Given the description of an element on the screen output the (x, y) to click on. 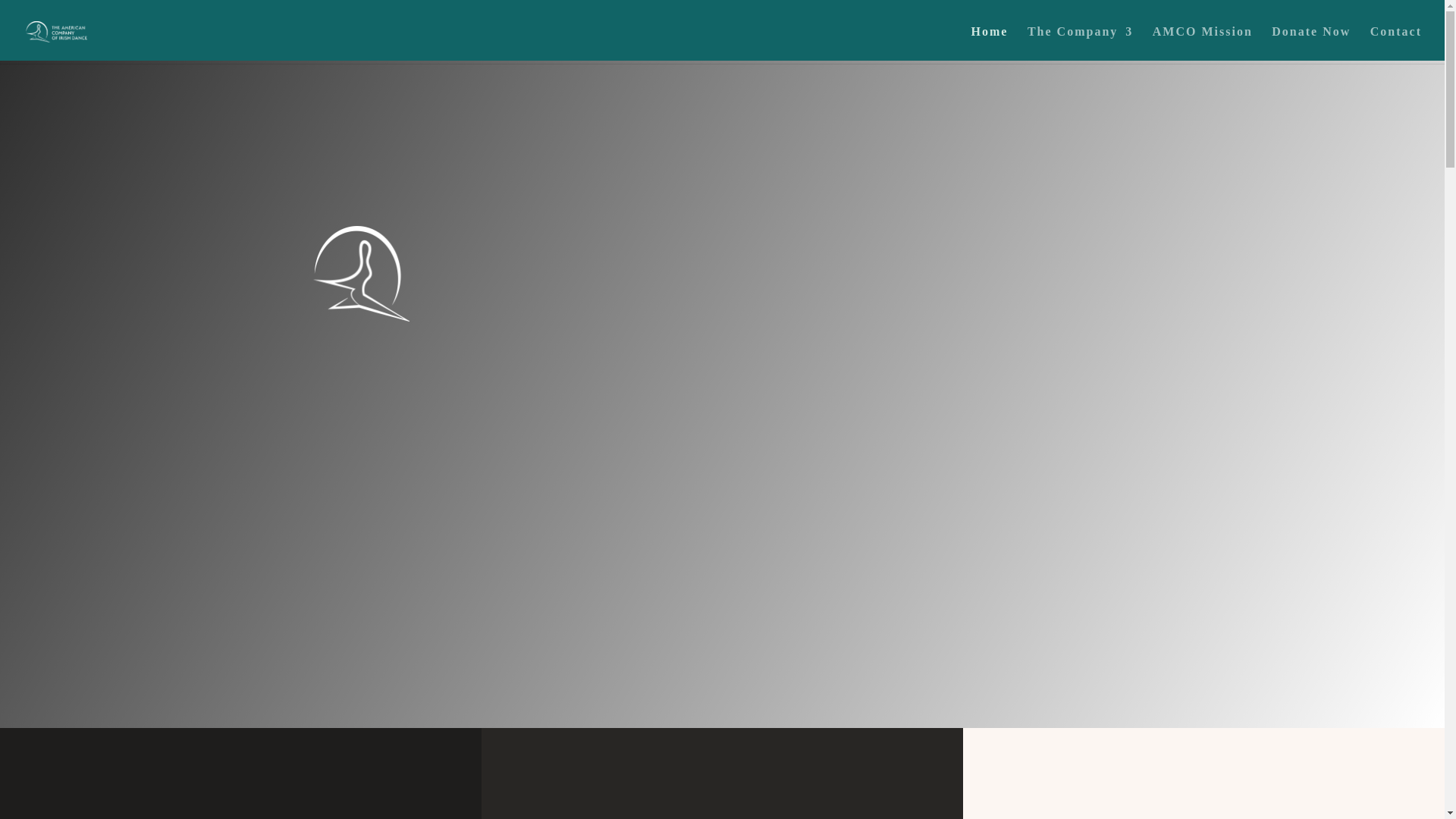
The Company (1079, 44)
Donate Now (1311, 44)
AMCO Mission (1202, 44)
Contact (1396, 44)
Home (990, 44)
cropped-amco-512x512-white.png (361, 274)
